Given the description of an element on the screen output the (x, y) to click on. 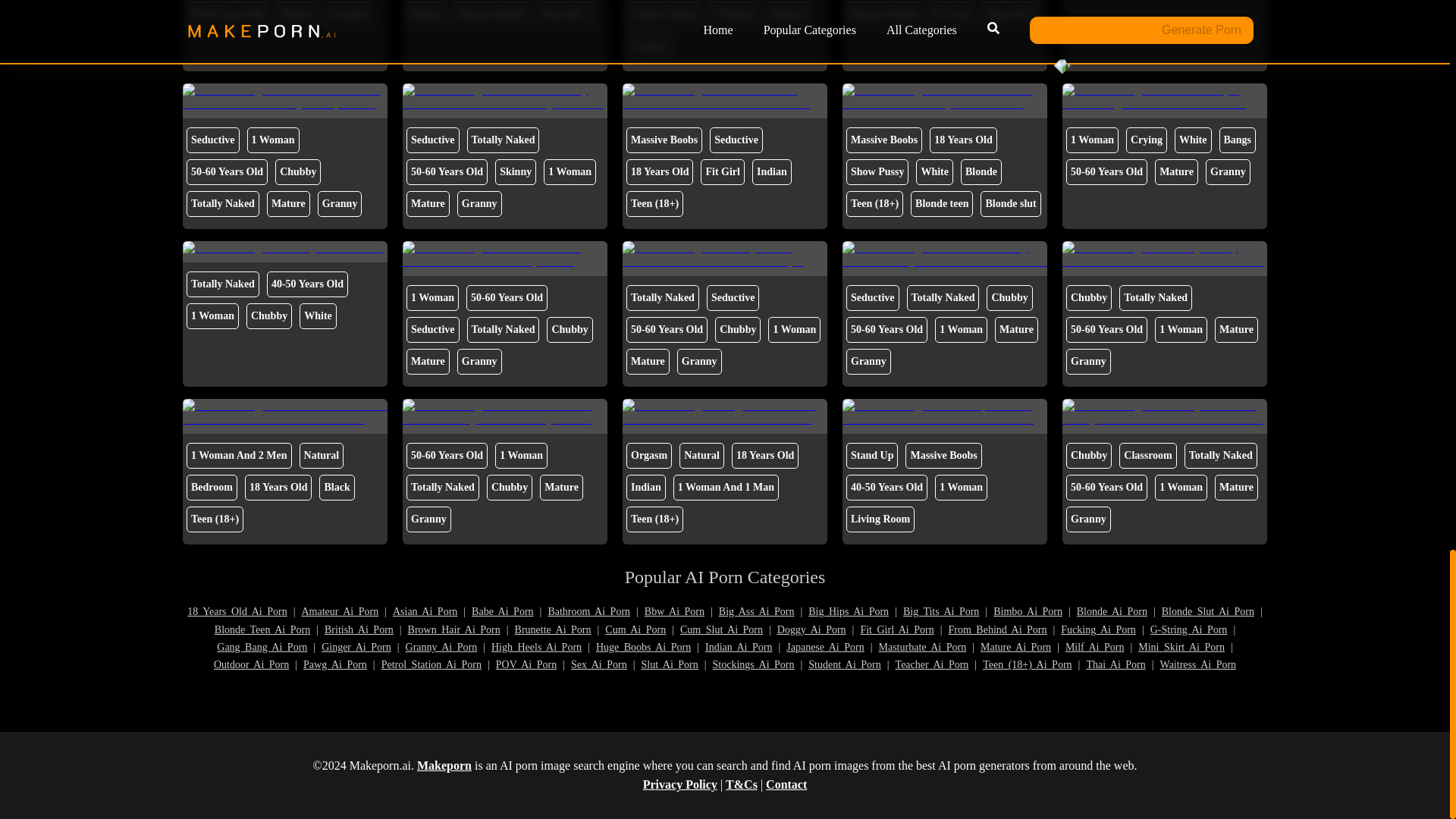
Mature (788, 14)
Granny (648, 45)
Granny (348, 14)
Totally Naked (662, 14)
Indian (425, 14)
50-60 Years Old (226, 14)
Mature (296, 14)
Massive Boobs (490, 14)
1 Woman (732, 14)
